Given the description of an element on the screen output the (x, y) to click on. 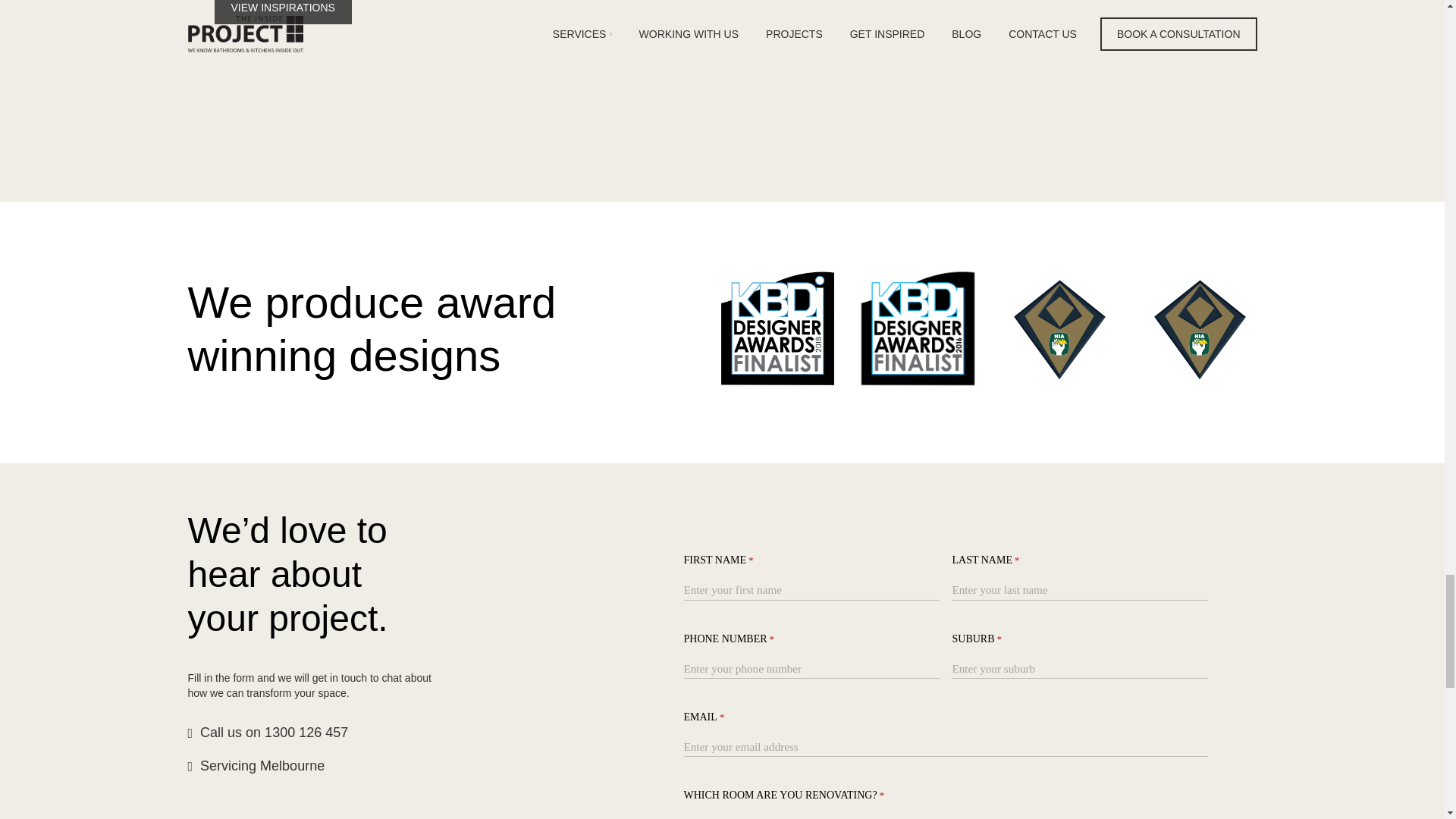
PHONE NUMBER (812, 669)
LAST NAME (1080, 589)
SUBURB (1080, 669)
EMAIL (946, 746)
FIRST NAME (812, 589)
